Given the description of an element on the screen output the (x, y) to click on. 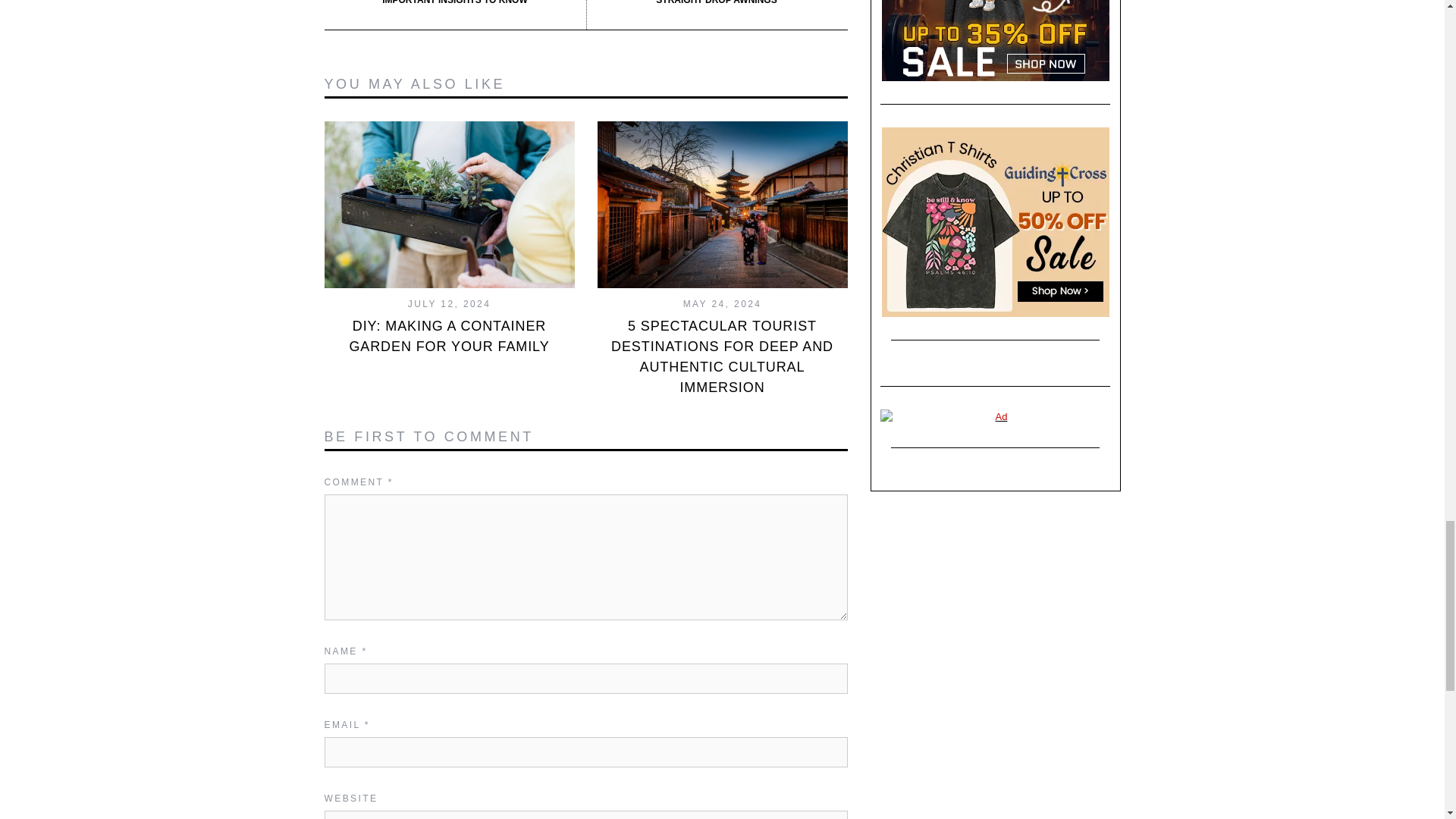
gym shirts (994, 40)
christian t shirts (994, 221)
